Given the description of an element on the screen output the (x, y) to click on. 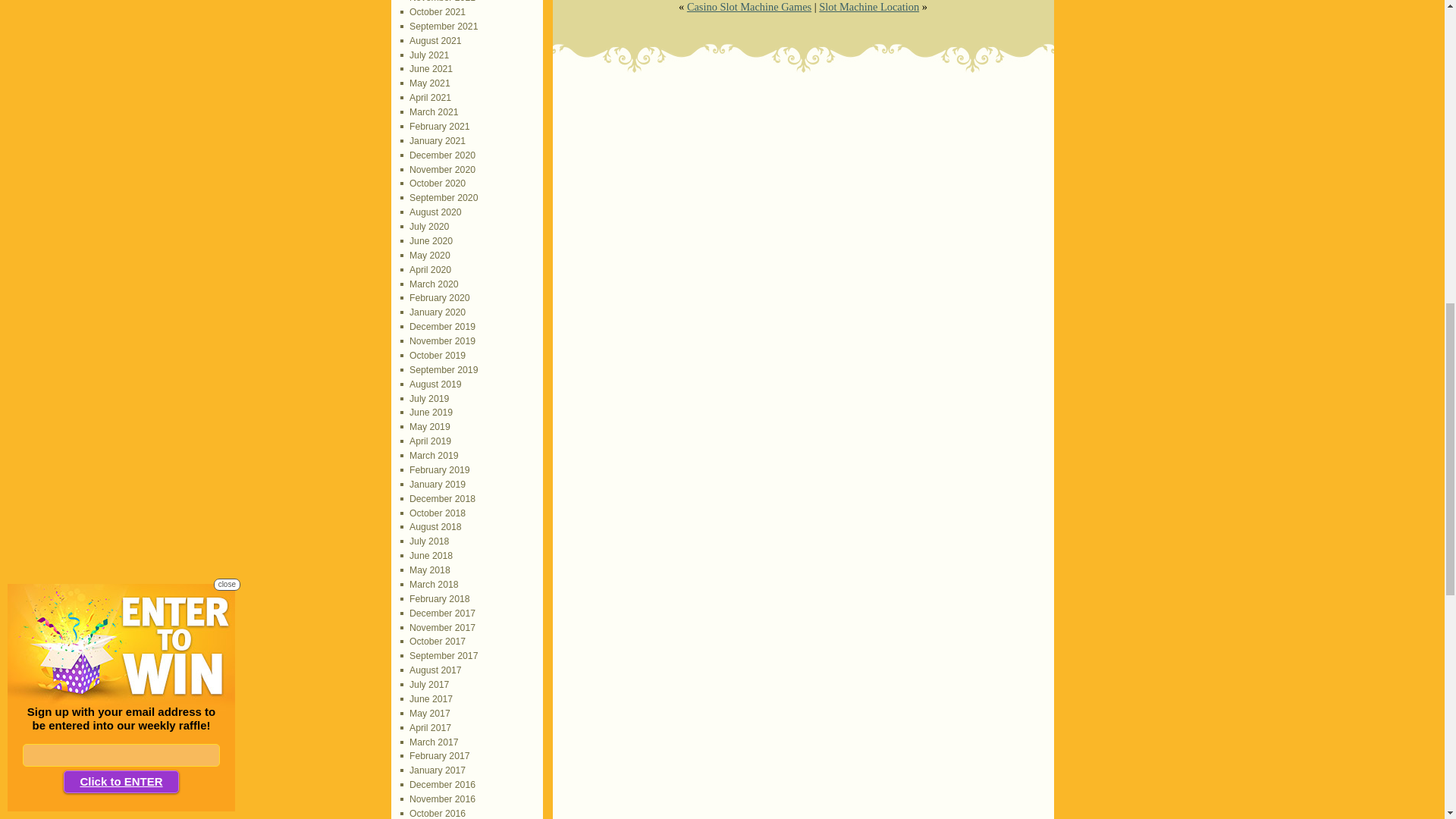
November 2021 (438, 1)
